Given the description of an element on the screen output the (x, y) to click on. 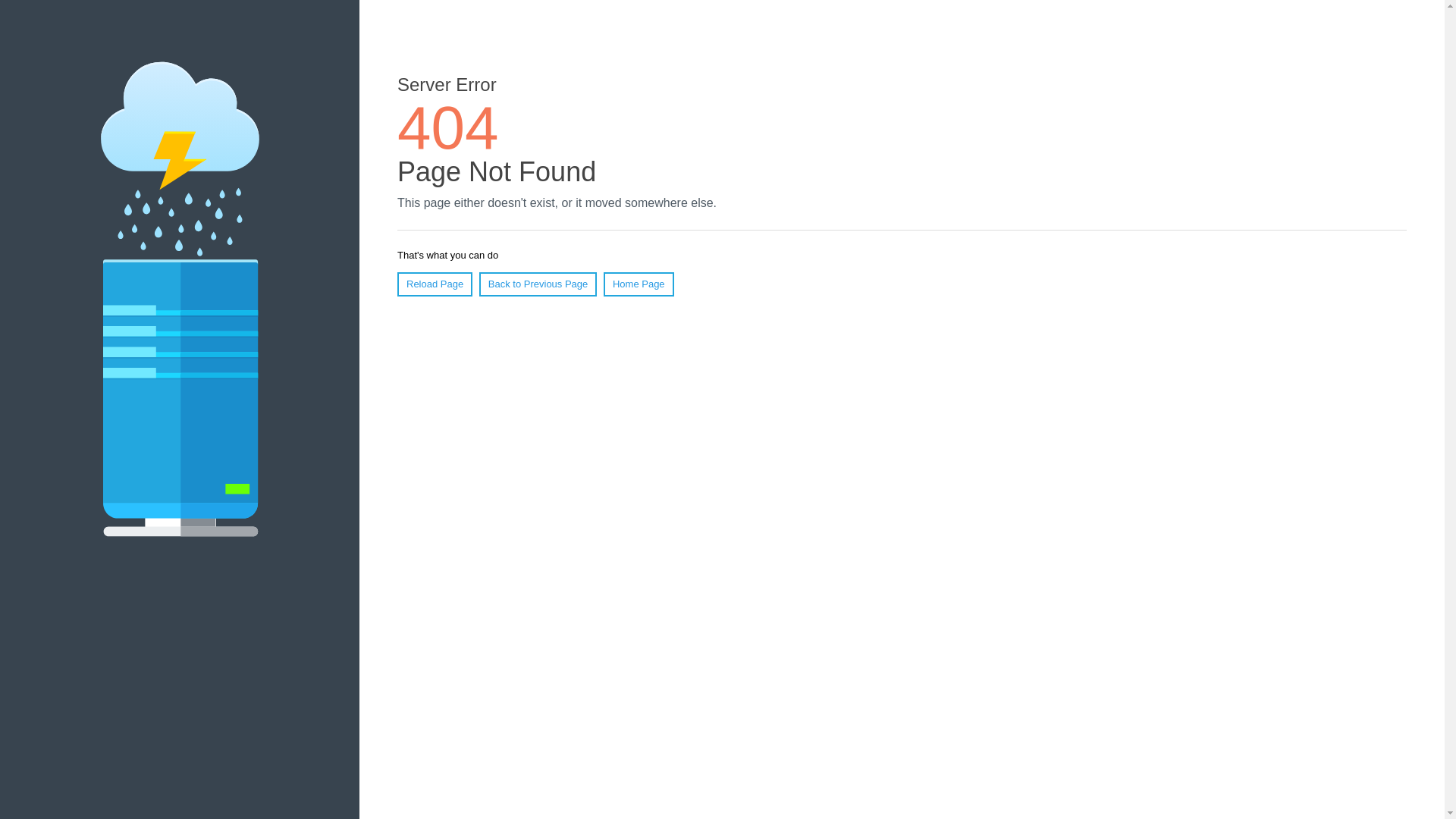
Reload Page (434, 283)
Back to Previous Page (537, 283)
Home Page (639, 283)
